Given the description of an element on the screen output the (x, y) to click on. 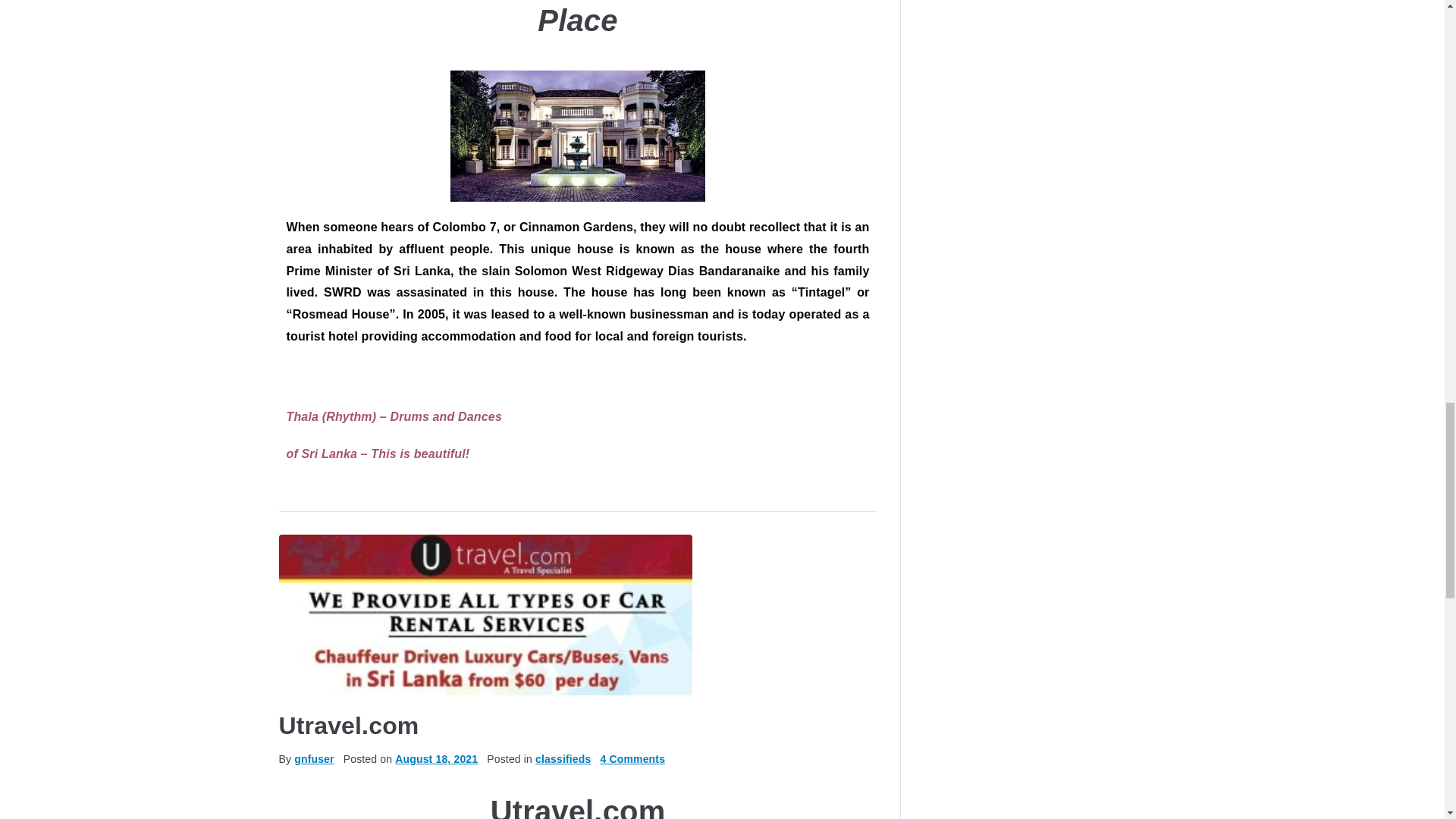
Utravel.com (349, 725)
gnfuser (313, 758)
classifieds (563, 758)
4 Comments (632, 758)
August 18, 2021 (435, 758)
